Given the description of an element on the screen output the (x, y) to click on. 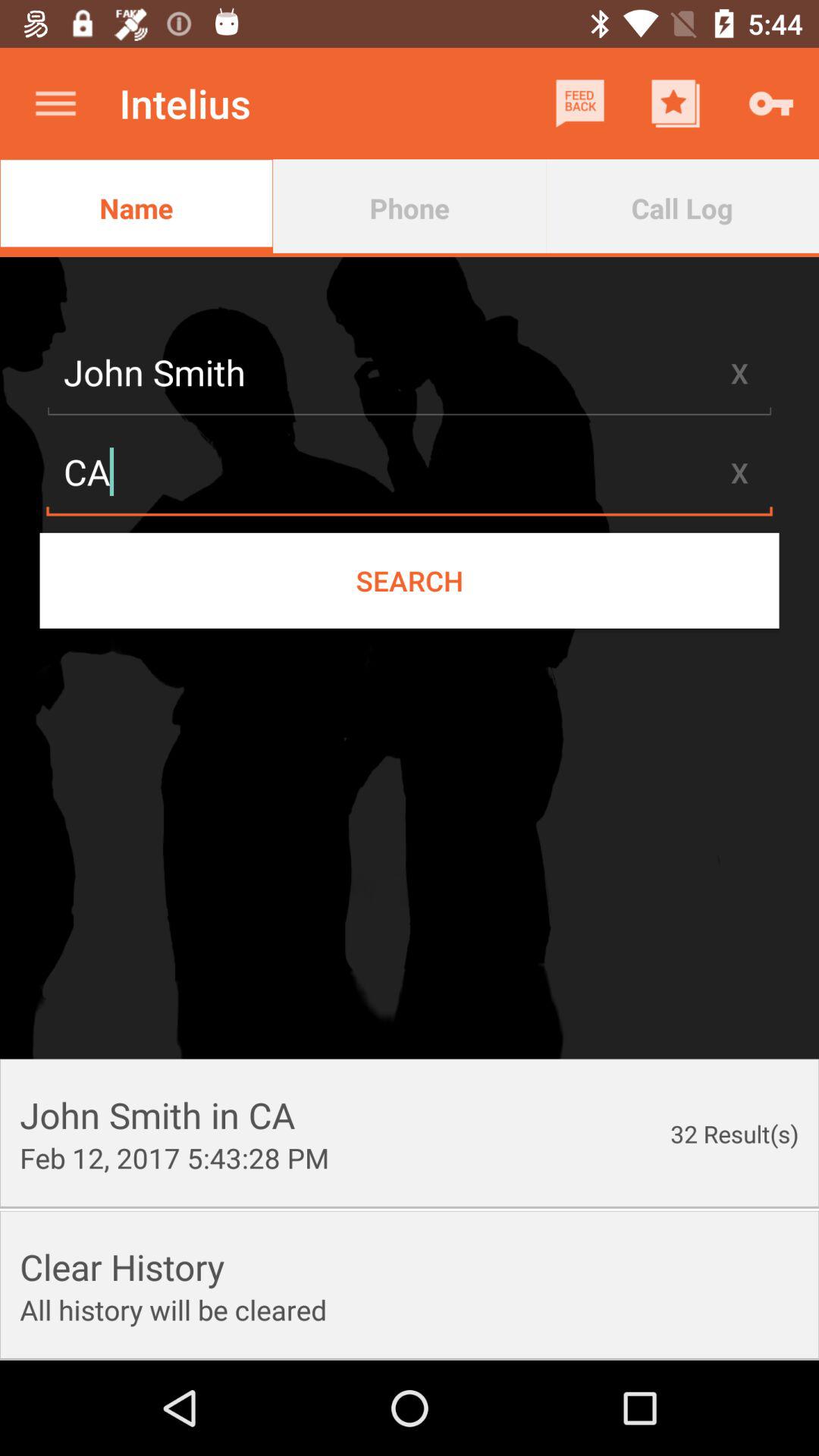
open icon next to the 32 result(s) app (174, 1157)
